Given the description of an element on the screen output the (x, y) to click on. 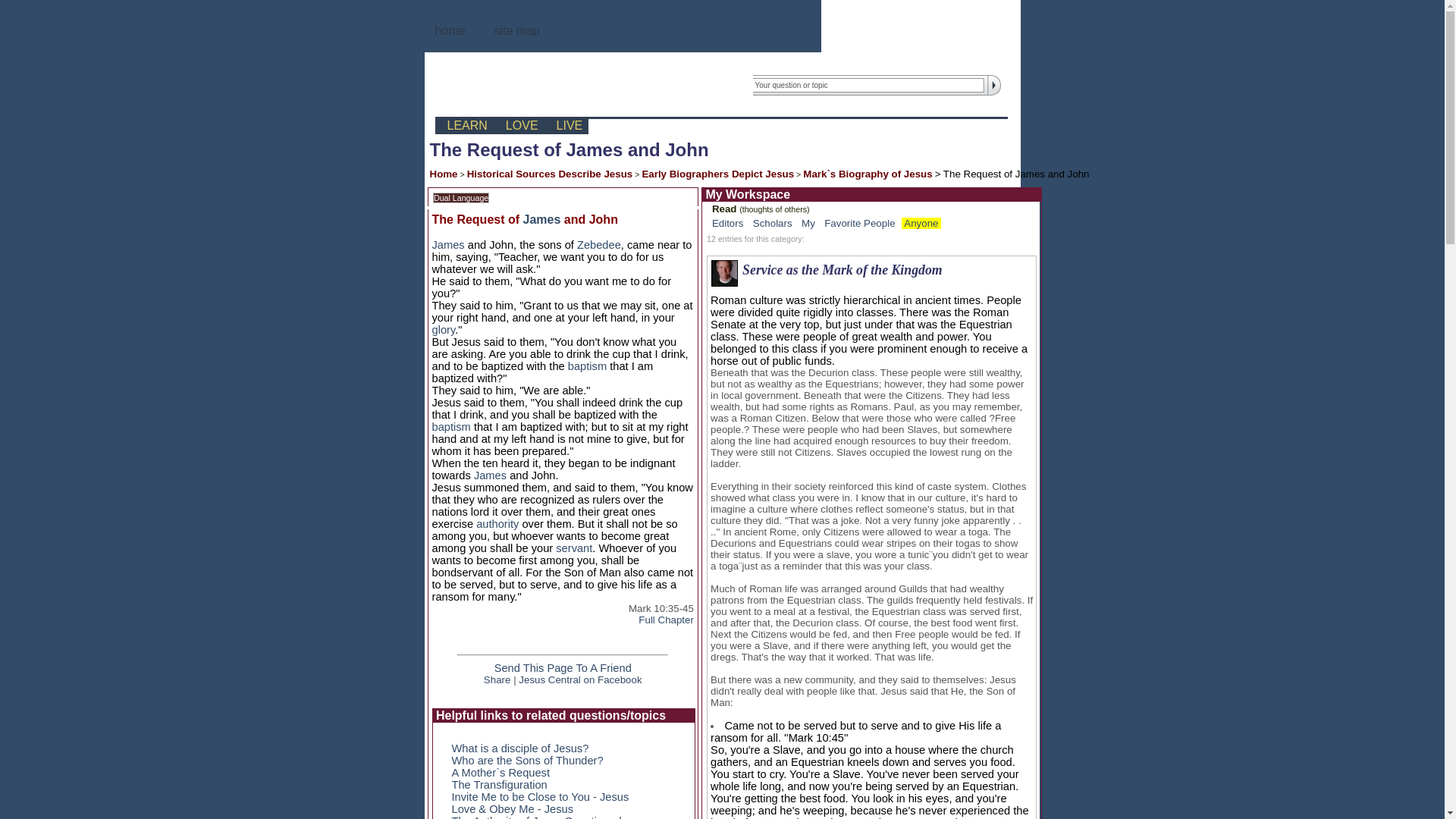
Your question or topic (866, 85)
Favorite People (859, 223)
LEARN (464, 125)
Send This Page To A Friend (563, 667)
home (450, 30)
James (541, 219)
My (808, 223)
Anyone (920, 223)
Home (443, 173)
Search (991, 85)
Editors (726, 223)
LOVE (518, 125)
LIVE (566, 125)
site map (517, 30)
JesusCentral.com (573, 84)
